Given the description of an element on the screen output the (x, y) to click on. 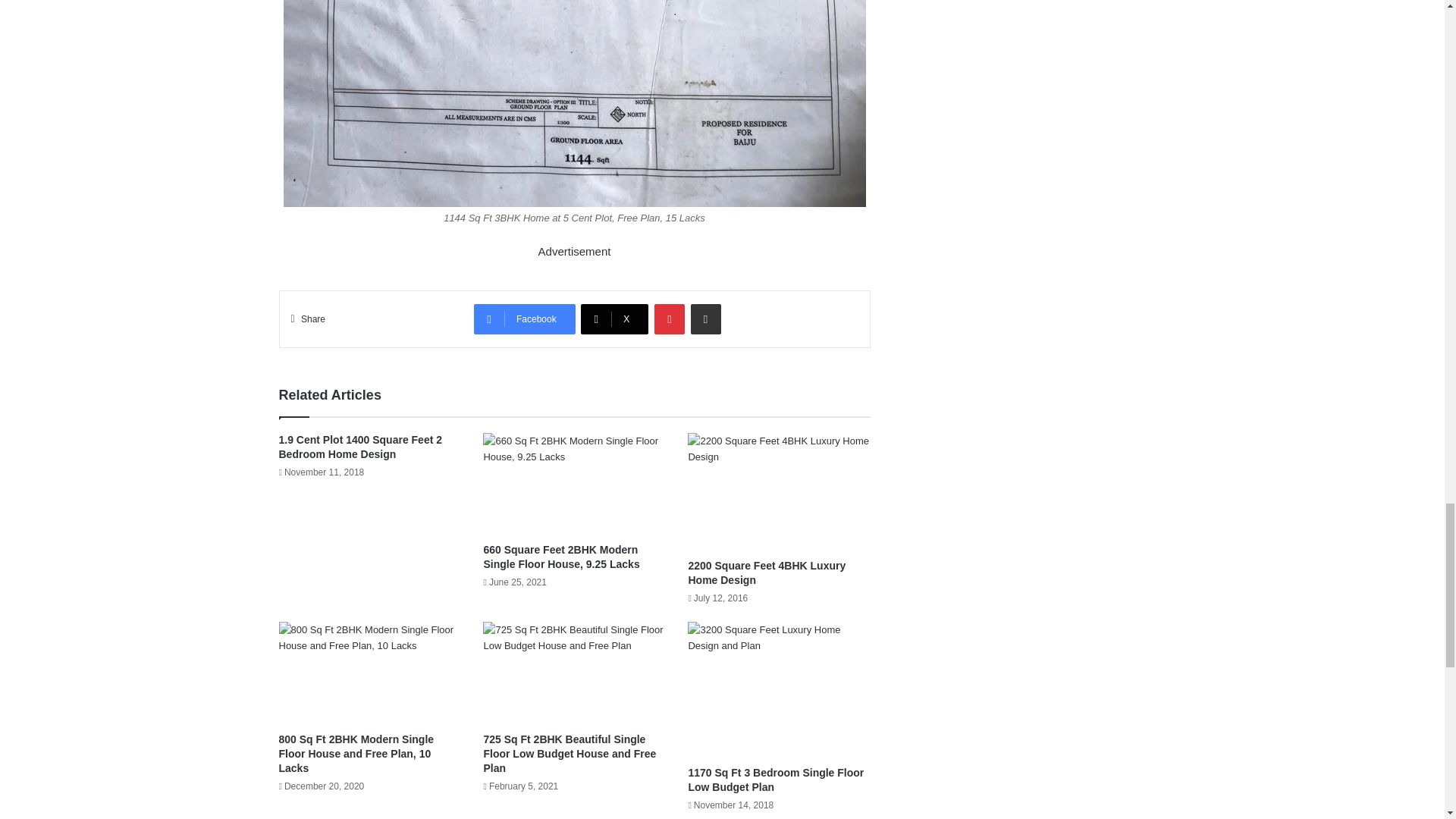
Facebook (524, 318)
Share via Email (705, 318)
Pinterest (668, 318)
Facebook (524, 318)
Pinterest (668, 318)
X (613, 318)
X (613, 318)
